Given the description of an element on the screen output the (x, y) to click on. 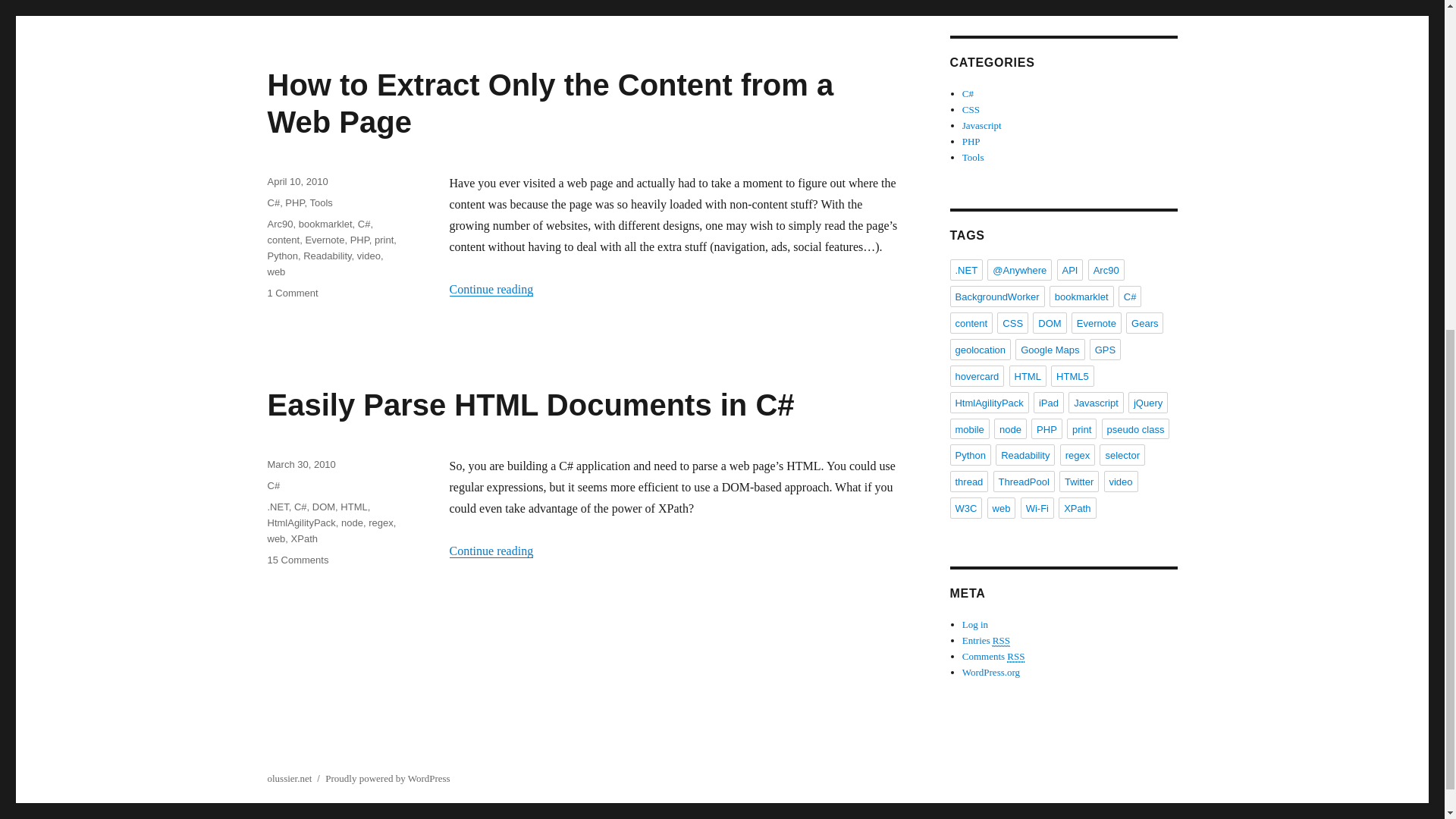
print (383, 239)
3 topics (1129, 296)
1 topic (1049, 349)
Tools (319, 202)
1 topic (1081, 296)
1 topic (1048, 322)
PHP (359, 239)
2 topics (1070, 269)
1 topic (1096, 322)
1 topic (970, 322)
How to Extract Only the Content from a Web Page (549, 102)
Evernote (323, 239)
Python (281, 255)
1 topic (1012, 322)
content (282, 239)
